Given the description of an element on the screen output the (x, y) to click on. 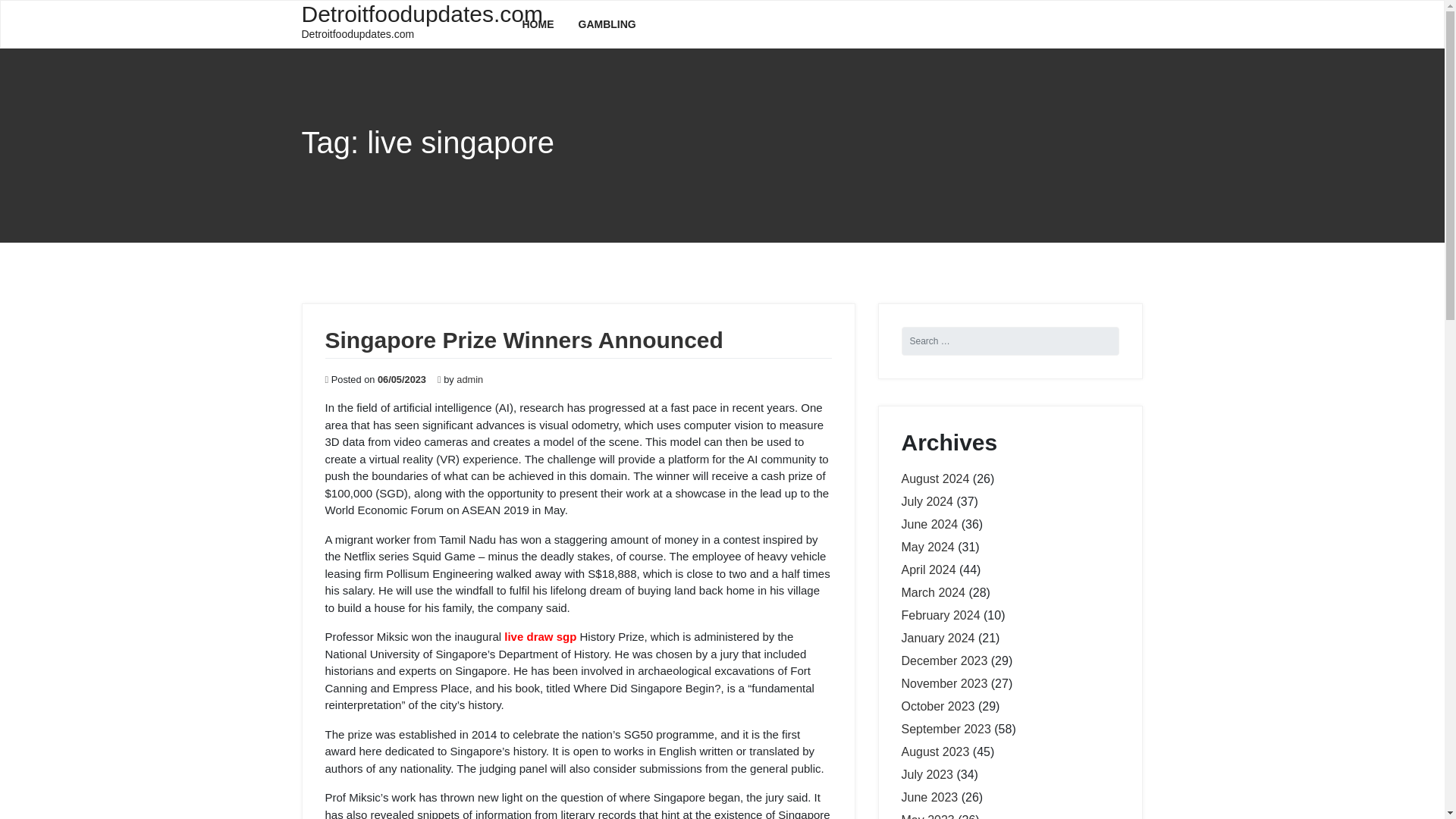
admin (470, 378)
July 2023 (927, 774)
Singapore Prize Winners Announced (523, 339)
GAMBLING (606, 23)
May 2024 (927, 546)
July 2024 (927, 501)
January 2024 (937, 637)
June 2024 (929, 523)
November 2023 (944, 683)
HOME (537, 23)
